Given the description of an element on the screen output the (x, y) to click on. 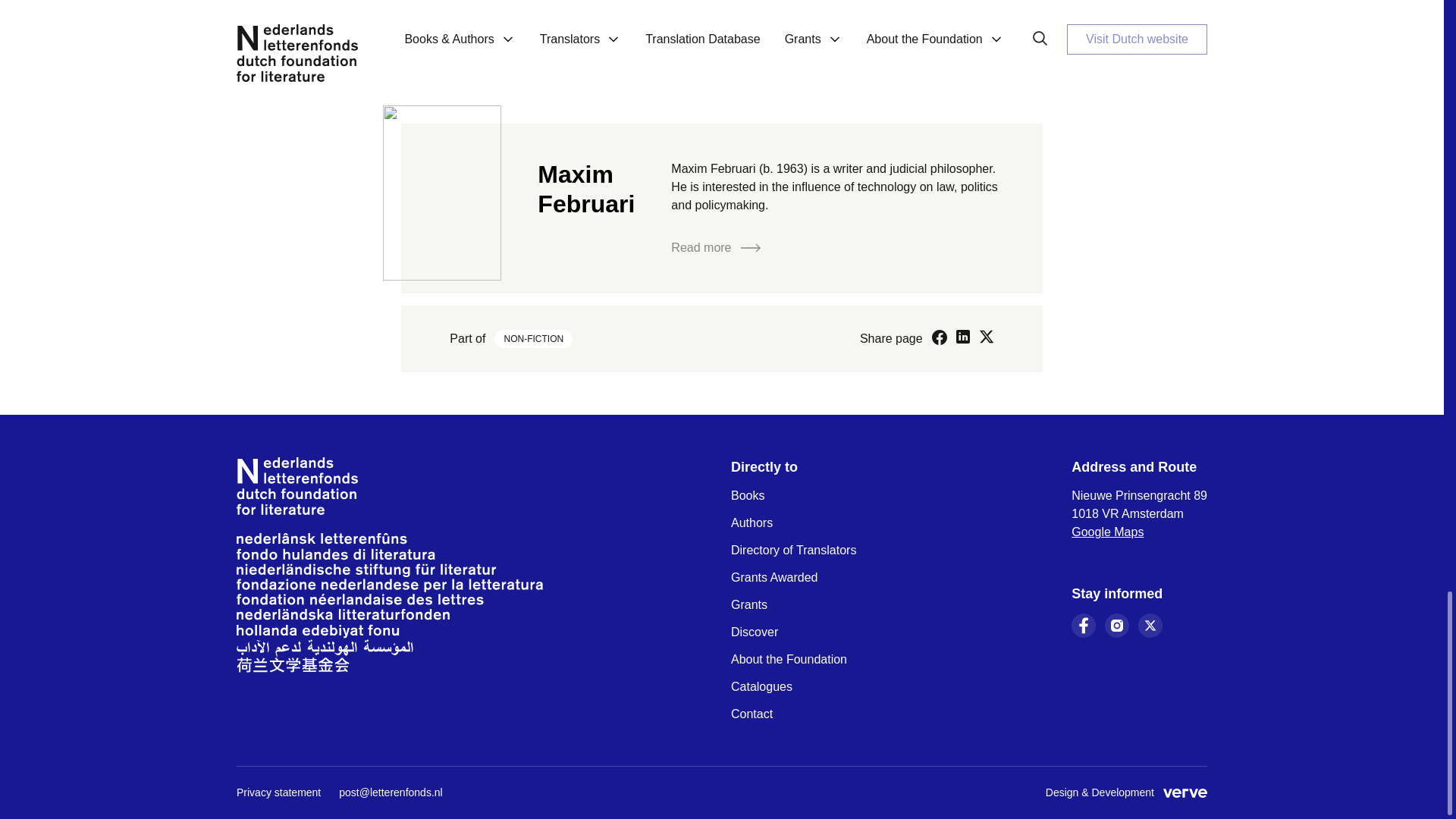
Read more (715, 247)
